Given the description of an element on the screen output the (x, y) to click on. 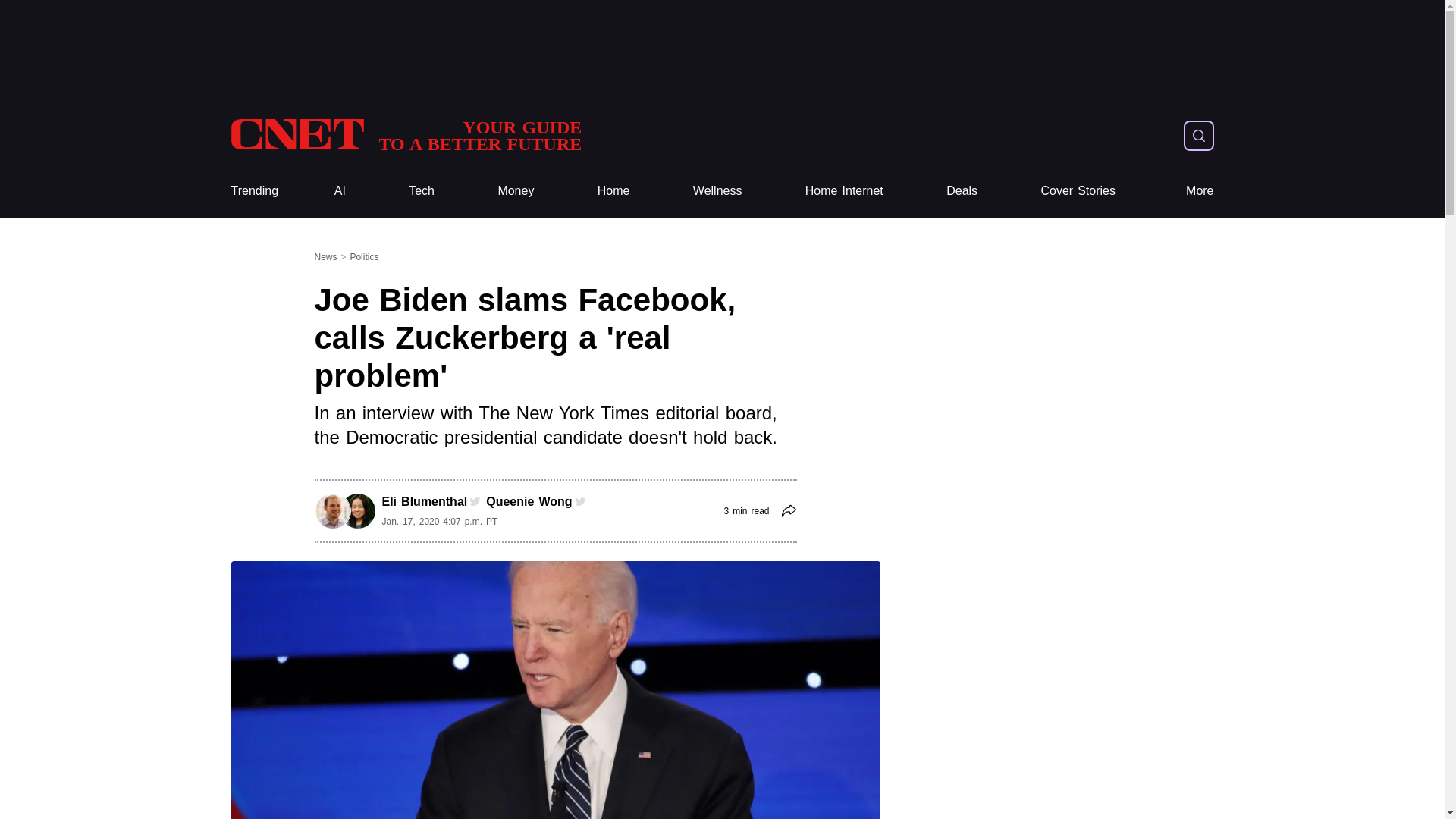
Deals (961, 190)
CNET (405, 135)
Tech (421, 190)
Trending (254, 190)
More (1199, 190)
Tech (421, 190)
Cover Stories (1078, 190)
Money (515, 190)
Home (613, 190)
